Given the description of an element on the screen output the (x, y) to click on. 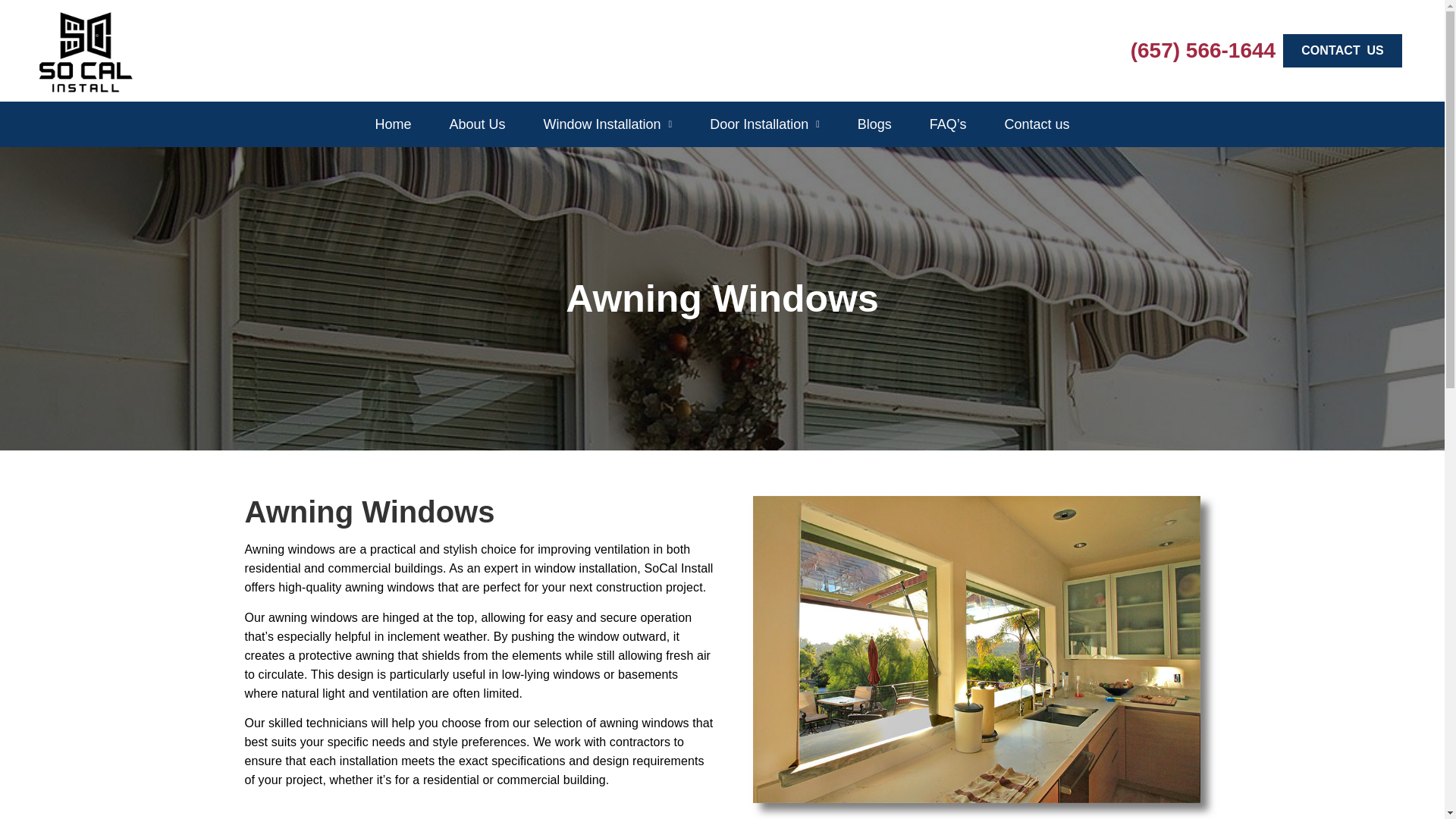
Door Installation (764, 123)
About Us (476, 123)
Window Installation (607, 123)
CONTACT US (1342, 50)
Home (392, 123)
Contact us (1037, 123)
Blogs (875, 123)
